Given the description of an element on the screen output the (x, y) to click on. 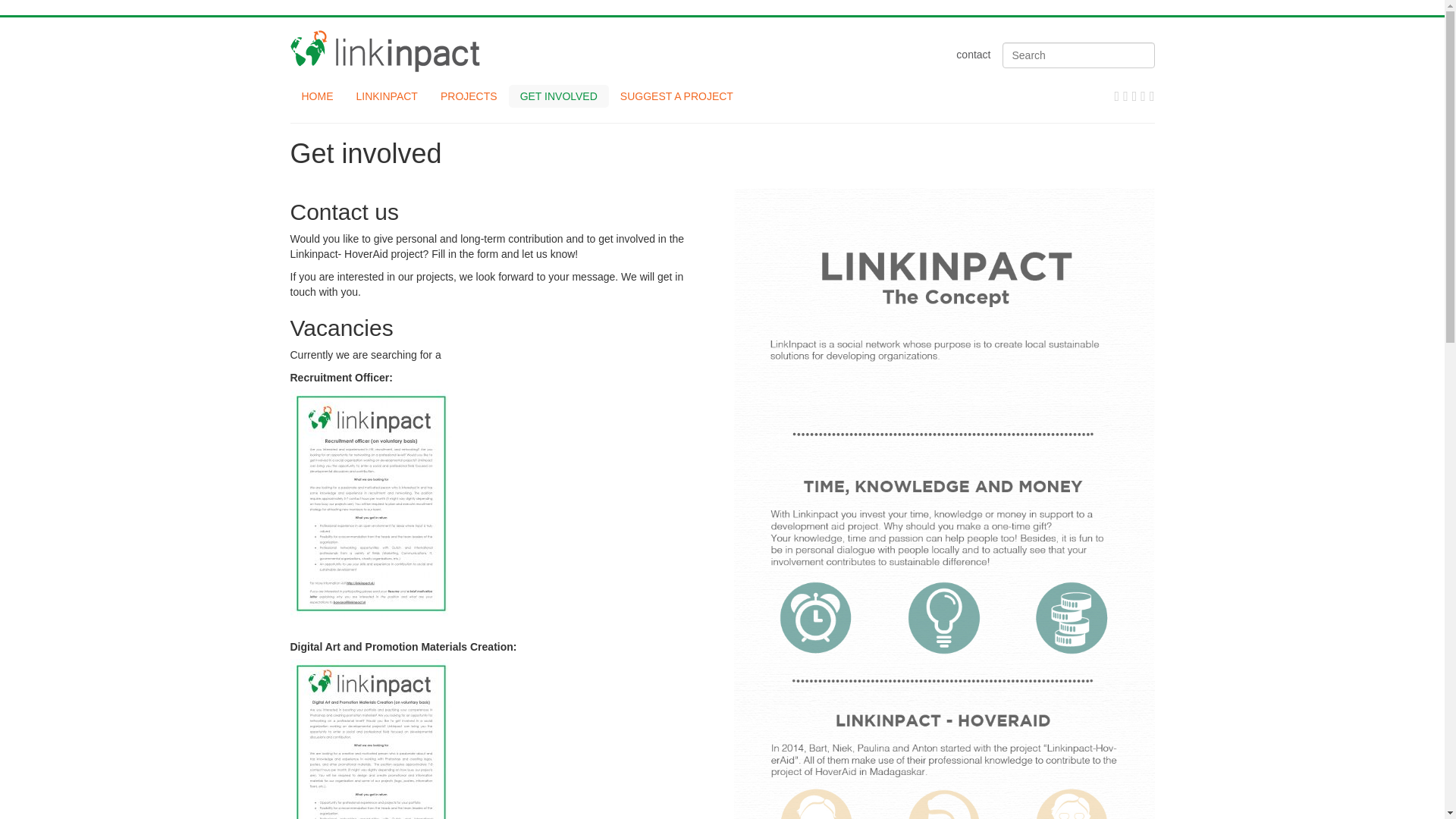
LINKINPACT (385, 96)
PROJECTS (468, 96)
facebook (1119, 96)
linkedin (1127, 96)
SUGGEST A PROJECT (676, 96)
HOME (316, 96)
GET INVOLVED (558, 96)
pinterest (1145, 96)
twitter (1136, 96)
youtube (1152, 96)
contact (973, 54)
